Given the description of an element on the screen output the (x, y) to click on. 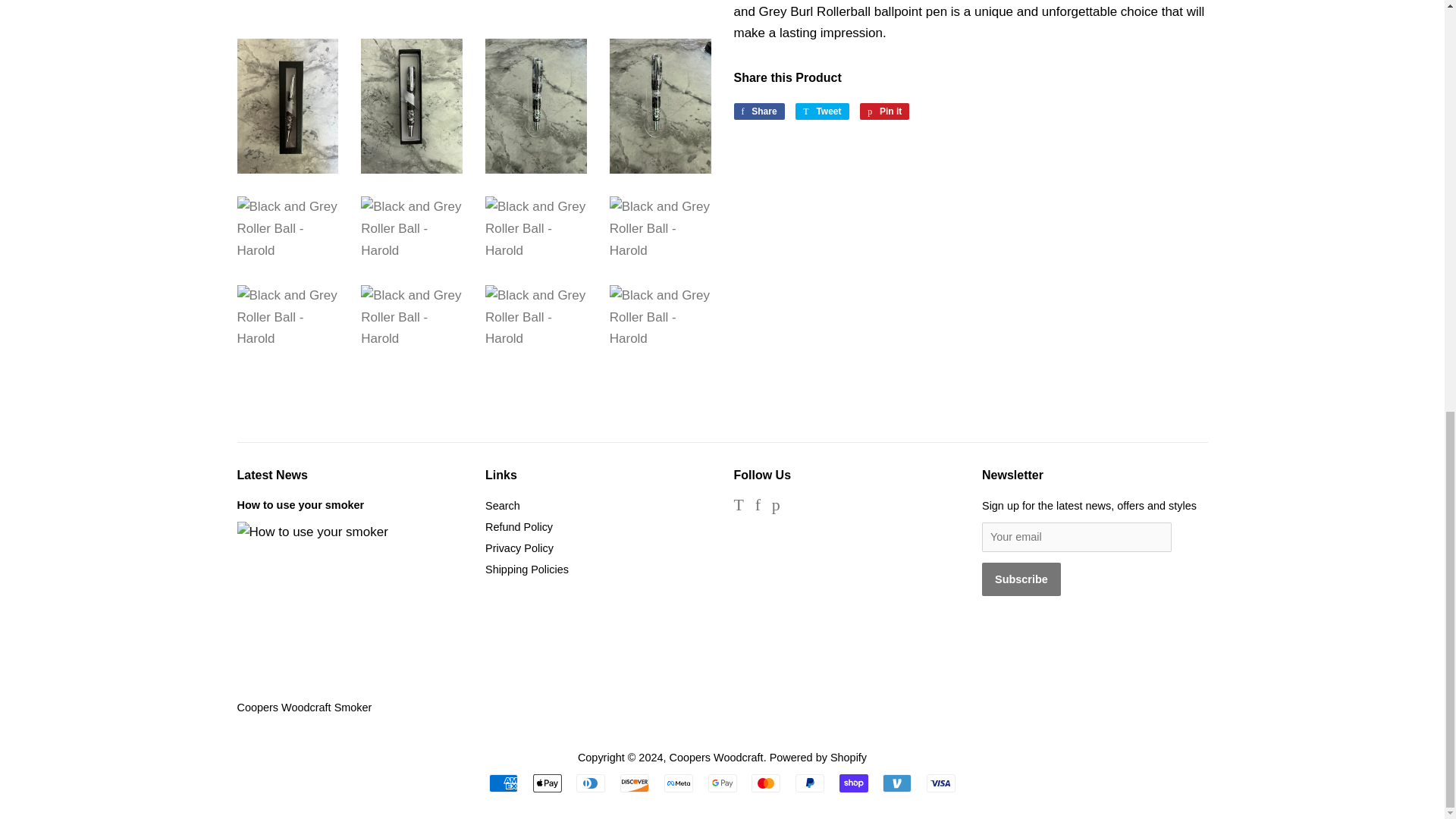
Meta Pay (678, 782)
Pin on Pinterest (884, 111)
Tweet on Twitter (821, 111)
Venmo (896, 782)
PayPal (809, 782)
Share on Facebook (758, 111)
Subscribe (1021, 579)
Visa (940, 782)
Google Pay (721, 782)
Shop Pay (853, 782)
